Given the description of an element on the screen output the (x, y) to click on. 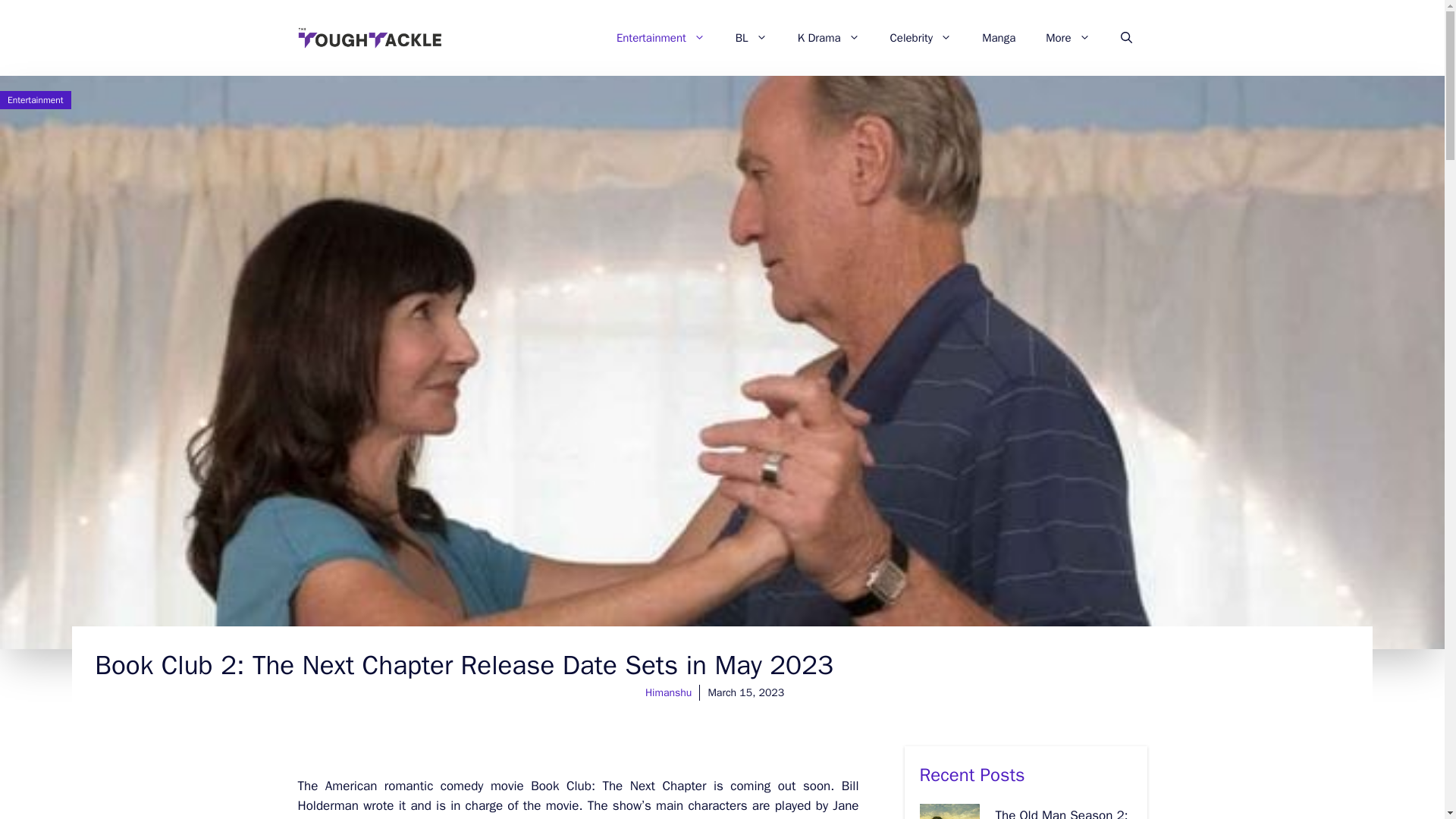
Himanshu (669, 692)
Manga (998, 37)
Book Club 2: The Next Chapter Release Date Sets in May 2023 (463, 664)
K Drama (829, 37)
Celebrity (921, 37)
BL (751, 37)
Entertainment (35, 100)
Entertainment (660, 37)
More (1067, 37)
